Given the description of an element on the screen output the (x, y) to click on. 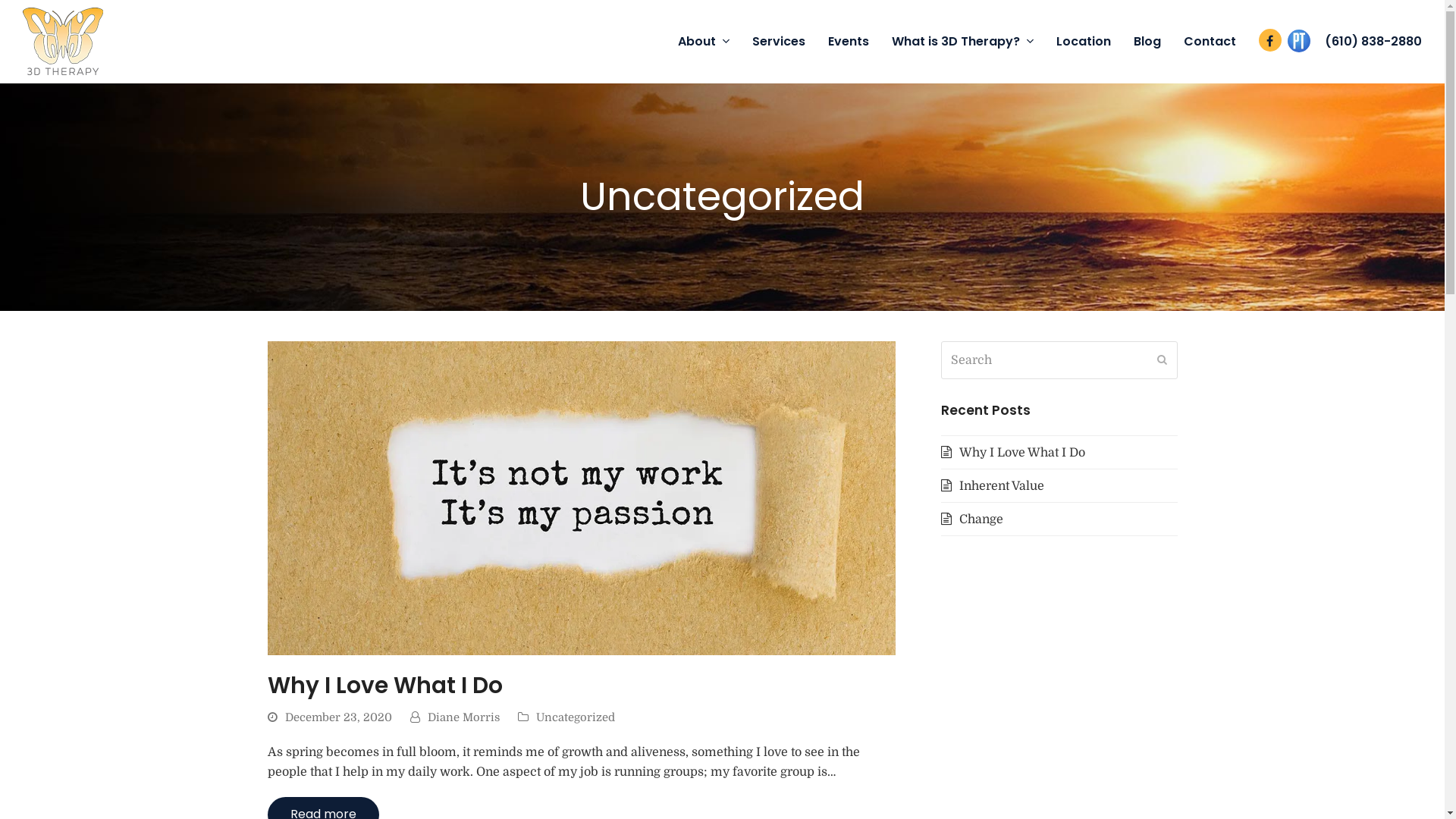
Change Element type: text (971, 519)
Why I Love What I Do Element type: text (384, 684)
Diane Morris Element type: text (463, 717)
  Element type: text (1298, 41)
Why I Love What I Do Element type: text (1012, 452)
Location Element type: text (1083, 41)
Why I Love What I Do Element type: hover (580, 497)
Contact Element type: text (1209, 41)
About Element type: text (703, 41)
(610) 838-2880 Element type: text (1373, 41)
Events Element type: text (848, 41)
Uncategorized Element type: text (574, 717)
Submit Element type: text (1162, 359)
Services Element type: text (778, 41)
What is 3D Therapy? Element type: text (962, 41)
Blog Element type: text (1147, 41)
Inherent Value Element type: text (991, 485)
